Given the description of an element on the screen output the (x, y) to click on. 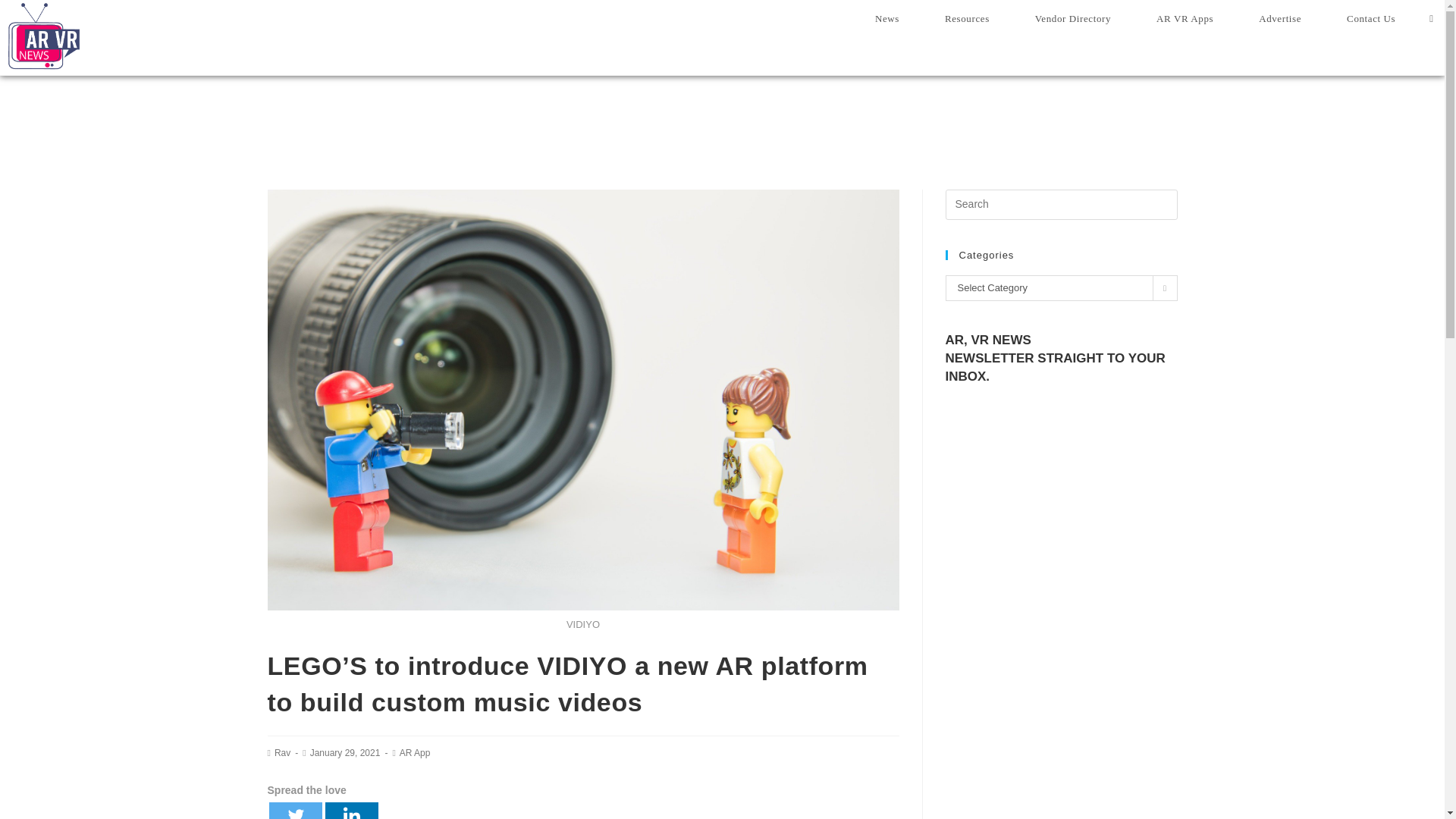
Resources (966, 18)
Vendor Directory (1072, 18)
News (886, 18)
Rav (282, 752)
AR App (414, 752)
Posts by Rav (282, 752)
AR VR Apps (1185, 18)
Linkedin (350, 810)
Contact Us (1370, 18)
Form 0 (1060, 496)
Twitter (294, 810)
Advertise (1279, 18)
